Given the description of an element on the screen output the (x, y) to click on. 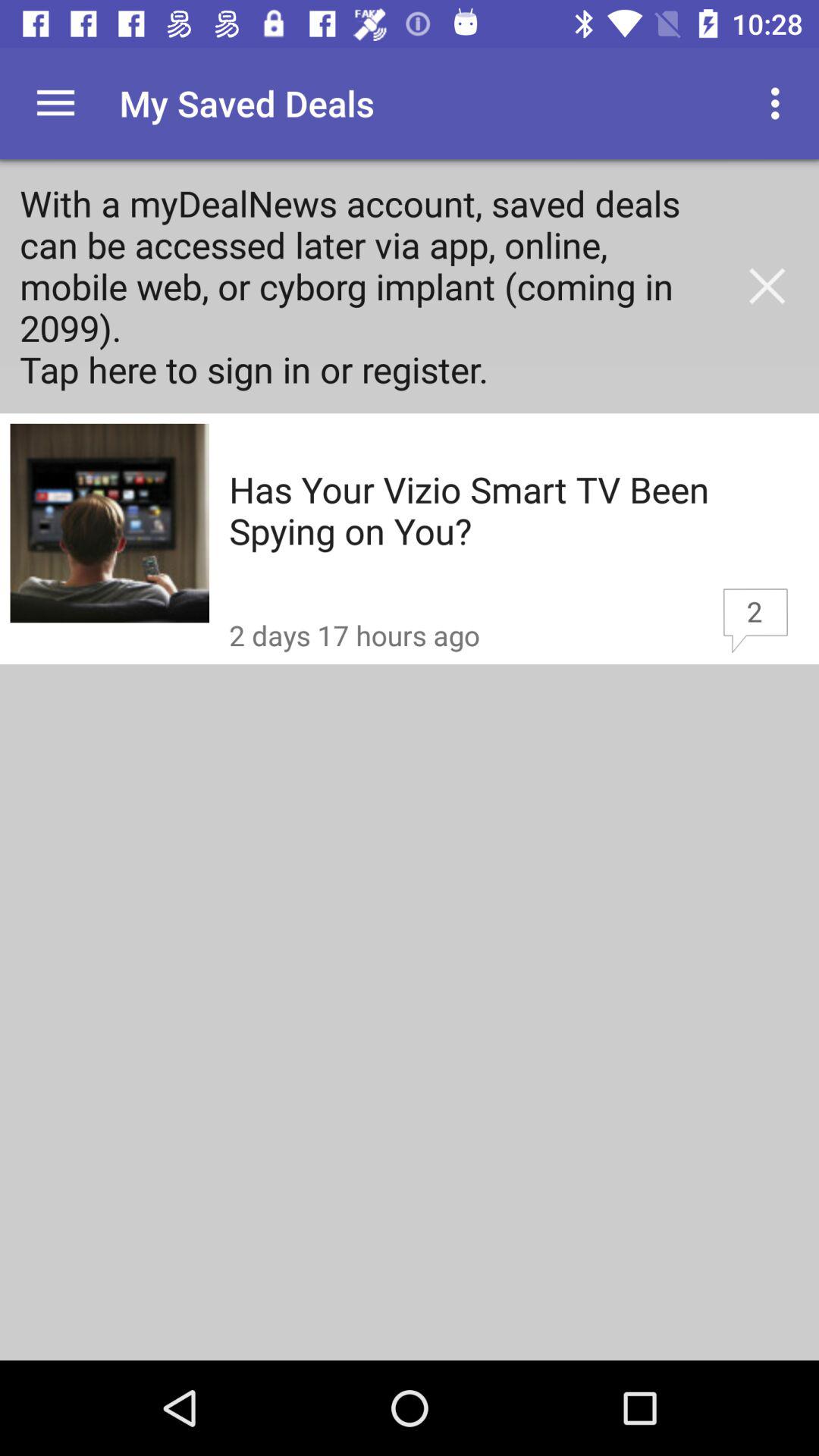
choose app to the left of the my saved deals app (55, 103)
